Given the description of an element on the screen output the (x, y) to click on. 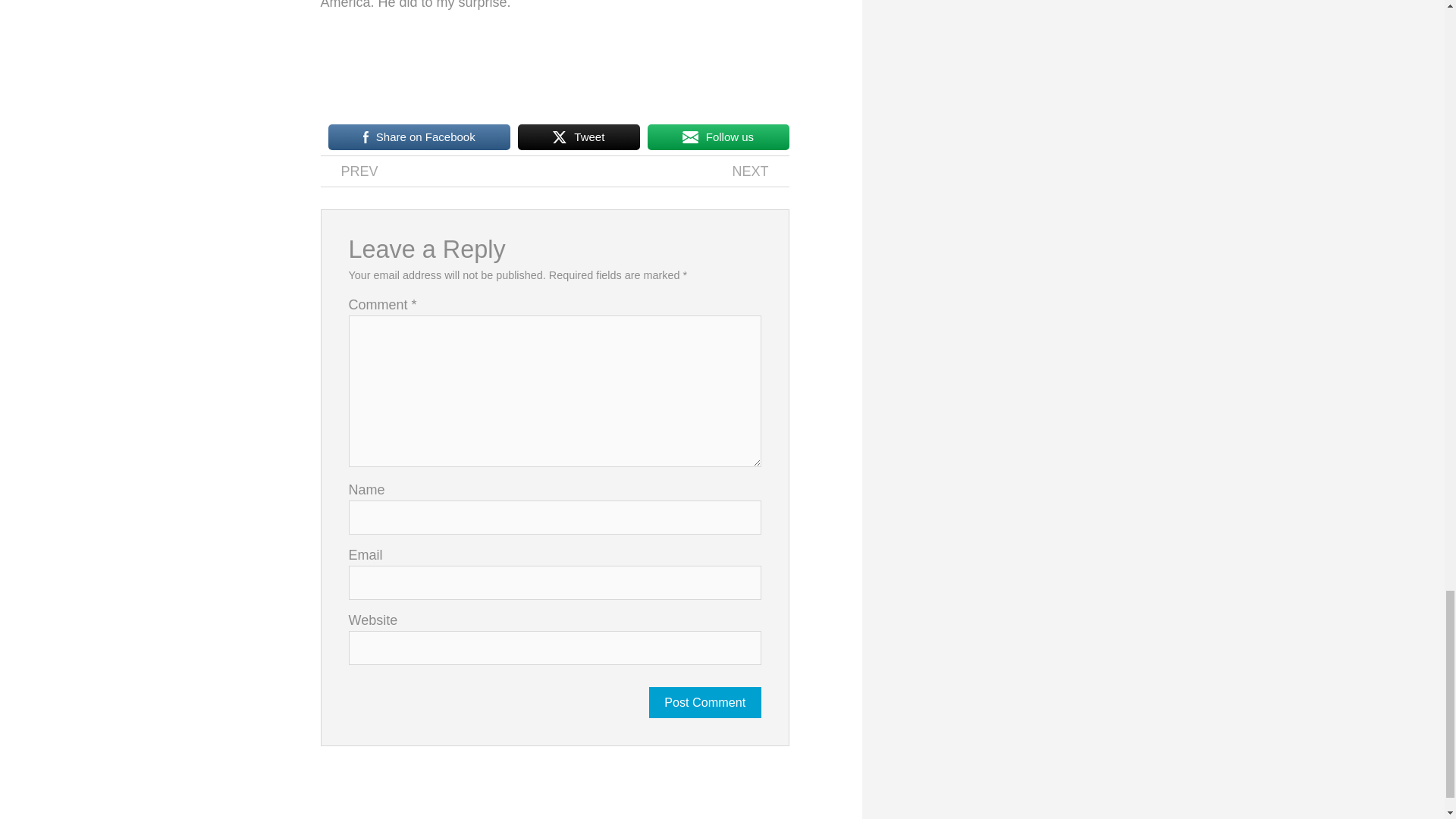
Follow us (718, 136)
Tweet (760, 171)
Post Comment (579, 136)
Post Comment (348, 171)
Share on Facebook (705, 702)
